Given the description of an element on the screen output the (x, y) to click on. 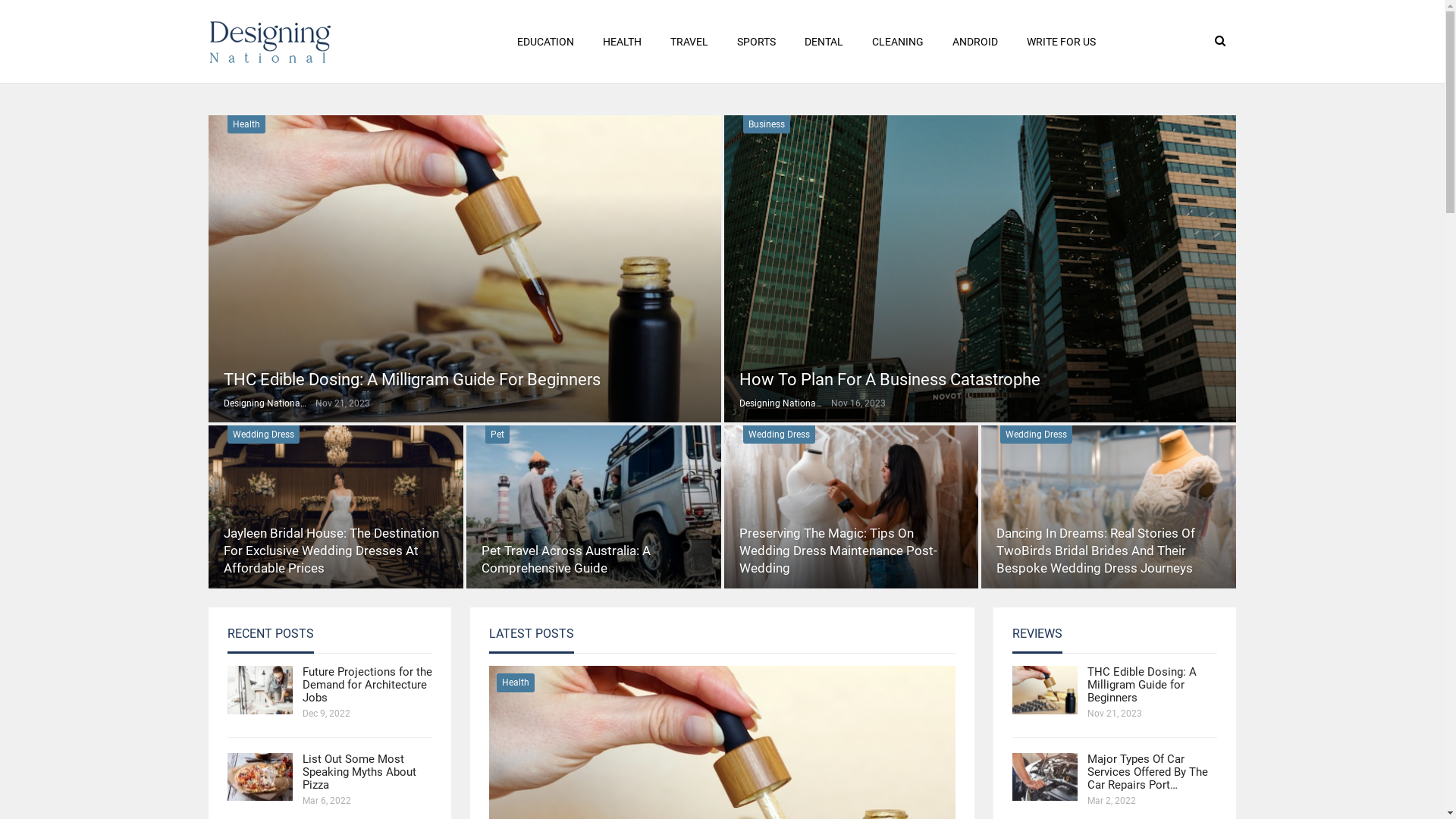
CLEANING Element type: text (897, 41)
TRAVEL Element type: text (689, 41)
Health Element type: text (246, 124)
Designing National Team Element type: text (269, 403)
Business Element type: text (766, 124)
Health Element type: text (515, 682)
ANDROID Element type: text (975, 41)
Pet Element type: text (497, 434)
EDUCATION Element type: text (545, 41)
SPORTS Element type: text (756, 41)
Pet Travel Across Australia: A Comprehensive Guide Element type: hover (593, 506)
List Out Some Most Speaking Myths About Pizza Element type: text (359, 771)
THC Edible Dosing: A Milligram Guide for Beginners Element type: hover (464, 268)
Pet Travel Across Australia: A Comprehensive Guide Element type: text (565, 559)
THC Edible Dosing: A Milligram Guide for Beginners Element type: text (1141, 684)
Future Projections for the Demand for Architecture Jobs Element type: hover (259, 689)
List Out Some Most Speaking Myths About Pizza Element type: hover (259, 777)
Future Projections for the Demand for Architecture Jobs Element type: text (367, 684)
Designing National Team Element type: text (784, 403)
DENTAL Element type: text (822, 41)
Wedding Dress Element type: text (779, 434)
WRITE FOR US Element type: text (1060, 41)
How To Plan For A Business Catastrophe Element type: hover (979, 268)
HEALTH Element type: text (621, 41)
THC Edible Dosing: A Milligram Guide For Beginners Element type: text (411, 379)
How To Plan For A Business Catastrophe Element type: text (888, 379)
Wedding Dress Element type: text (263, 434)
Wedding Dress Element type: text (1036, 434)
THC Edible Dosing: A Milligram Guide for Beginners Element type: hover (1044, 689)
